Given the description of an element on the screen output the (x, y) to click on. 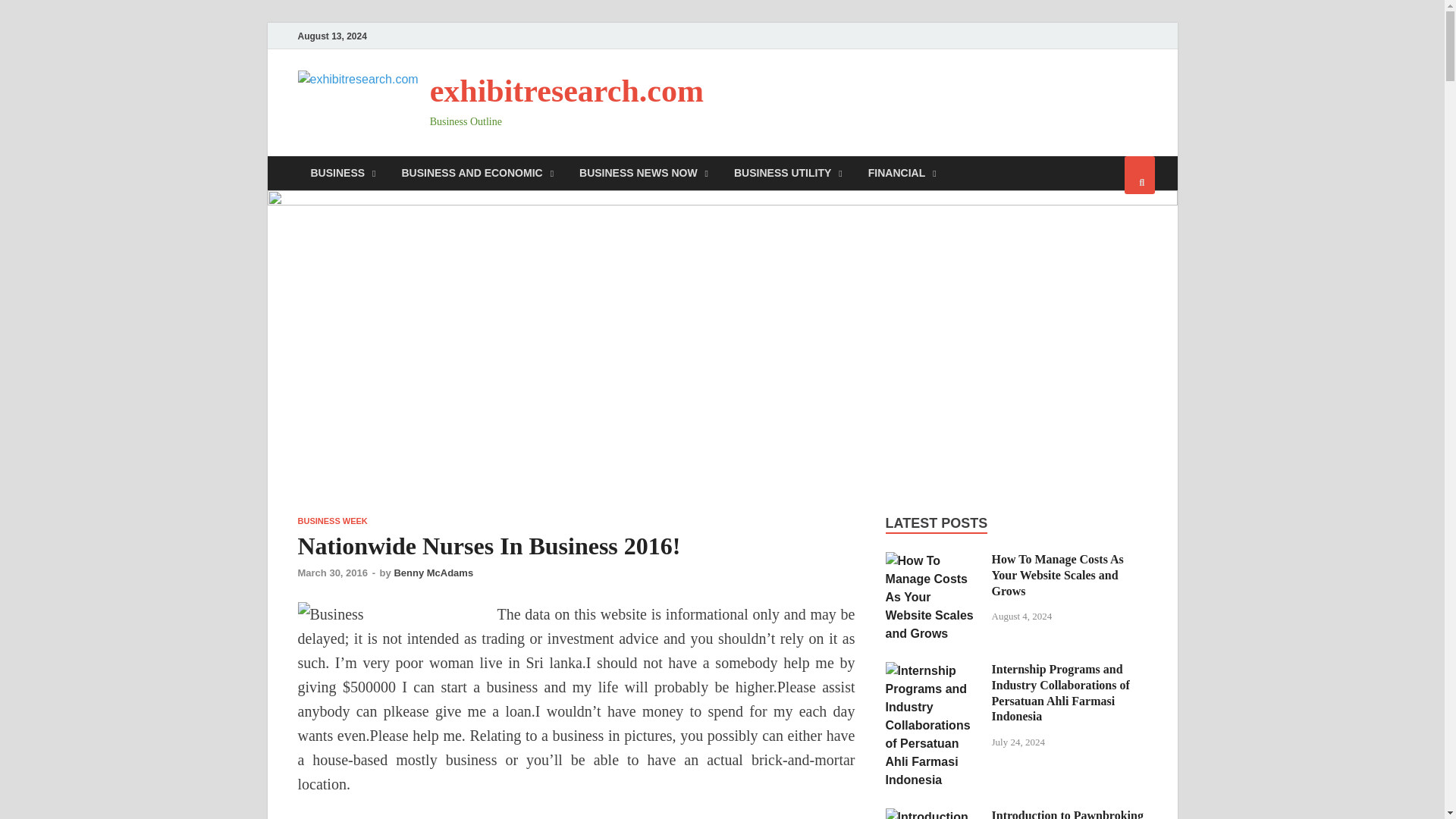
BUSINESS AND ECONOMIC (477, 173)
BUSINESS UTILITY (788, 173)
FINANCIAL (902, 173)
How To Manage Costs As Your Website Scales and Grows (932, 560)
March 30, 2016 (332, 572)
BUSINESS WEEK (331, 520)
Benny McAdams (433, 572)
exhibitresearch.com (566, 90)
BUSINESS NEWS NOW (643, 173)
